Given the description of an element on the screen output the (x, y) to click on. 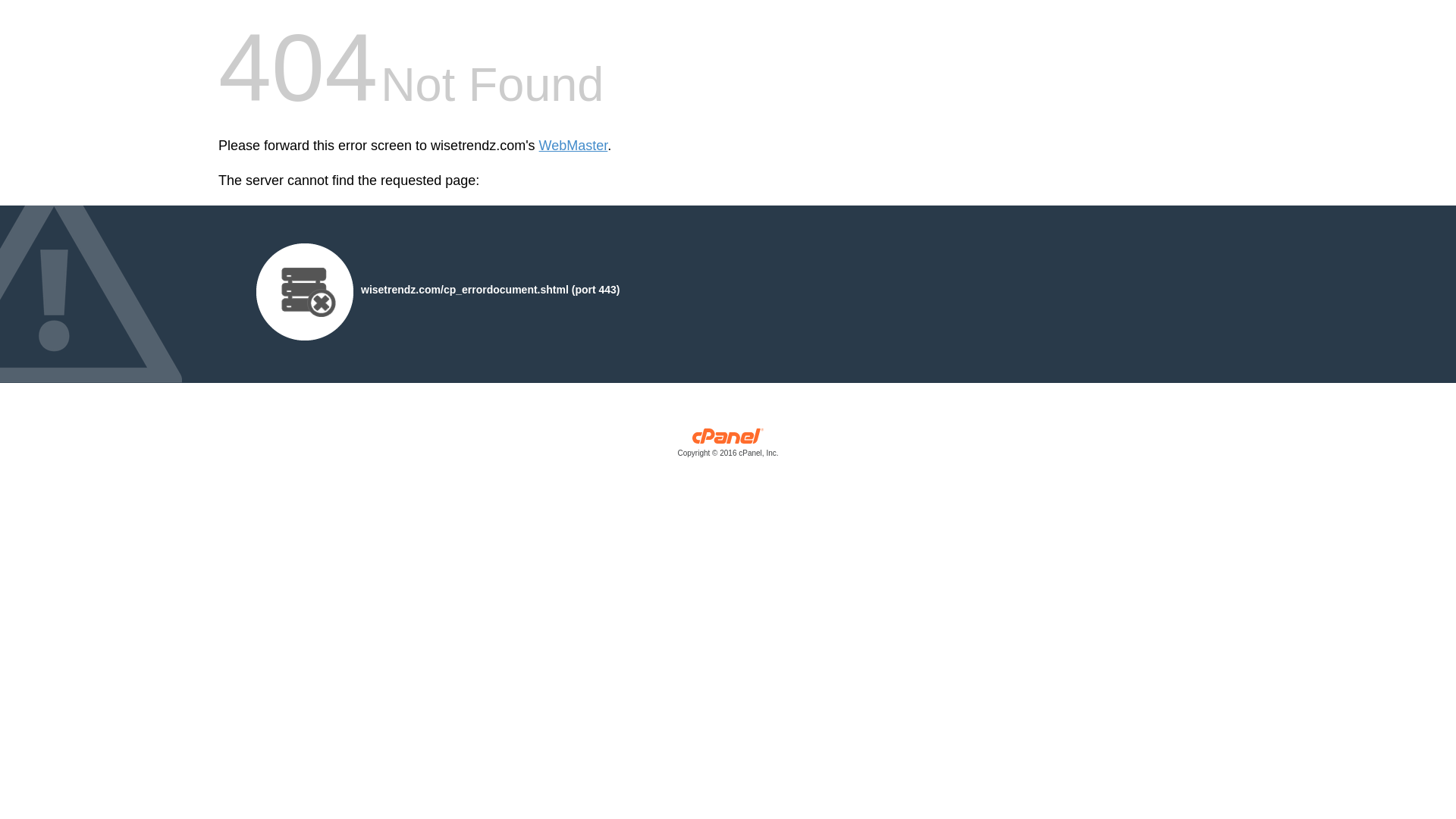
cPanel, Inc. (727, 446)
WebMaster (573, 145)
